Given the description of an element on the screen output the (x, y) to click on. 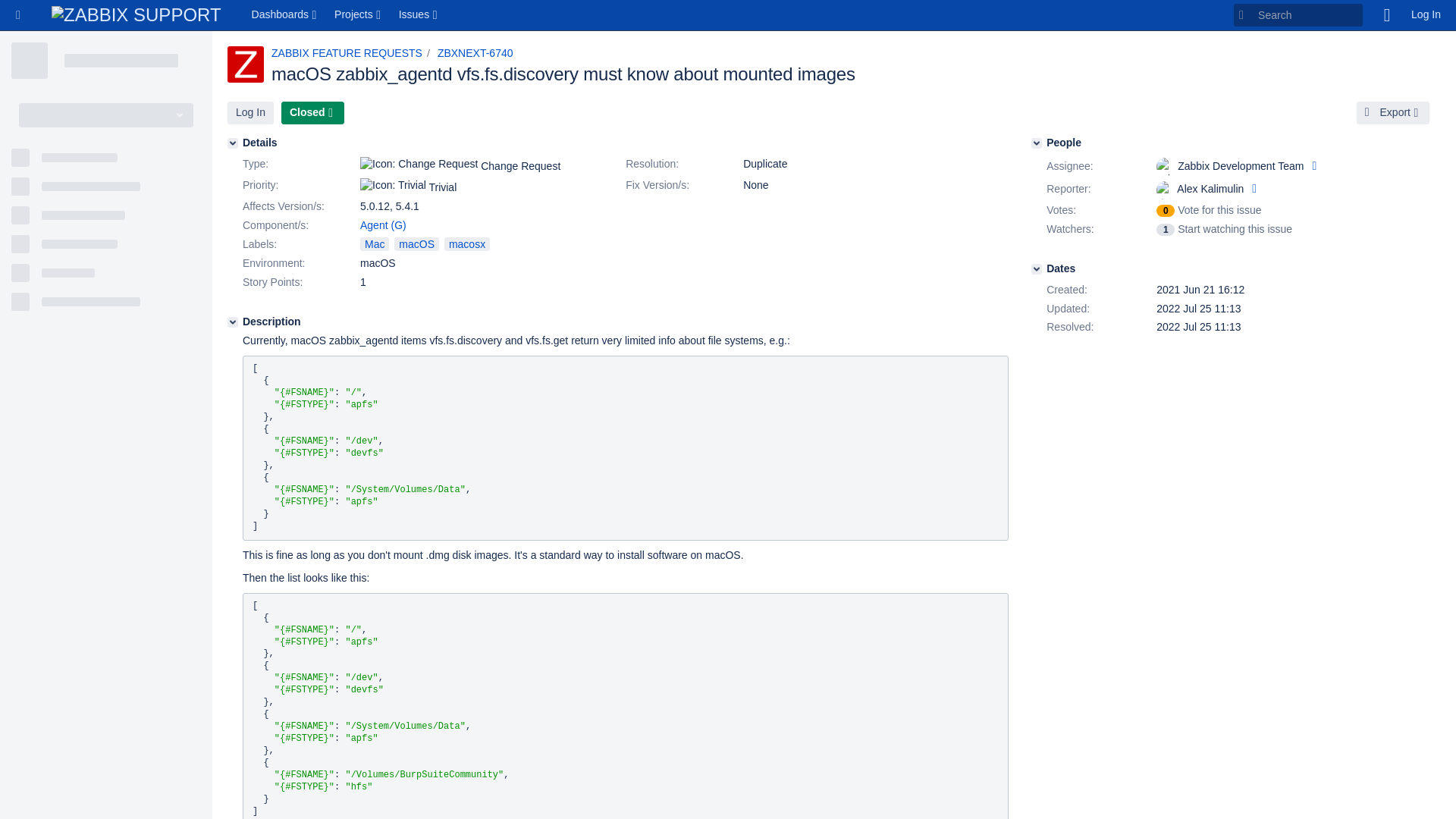
Log In (250, 112)
View recent projects and browse a list of projects (358, 15)
Projects (358, 15)
Log In (1425, 15)
ZABBIX FEATURE REQUESTS (346, 52)
Issues (418, 15)
Search (1297, 15)
Dates (1036, 268)
Log In (250, 112)
